Given the description of an element on the screen output the (x, y) to click on. 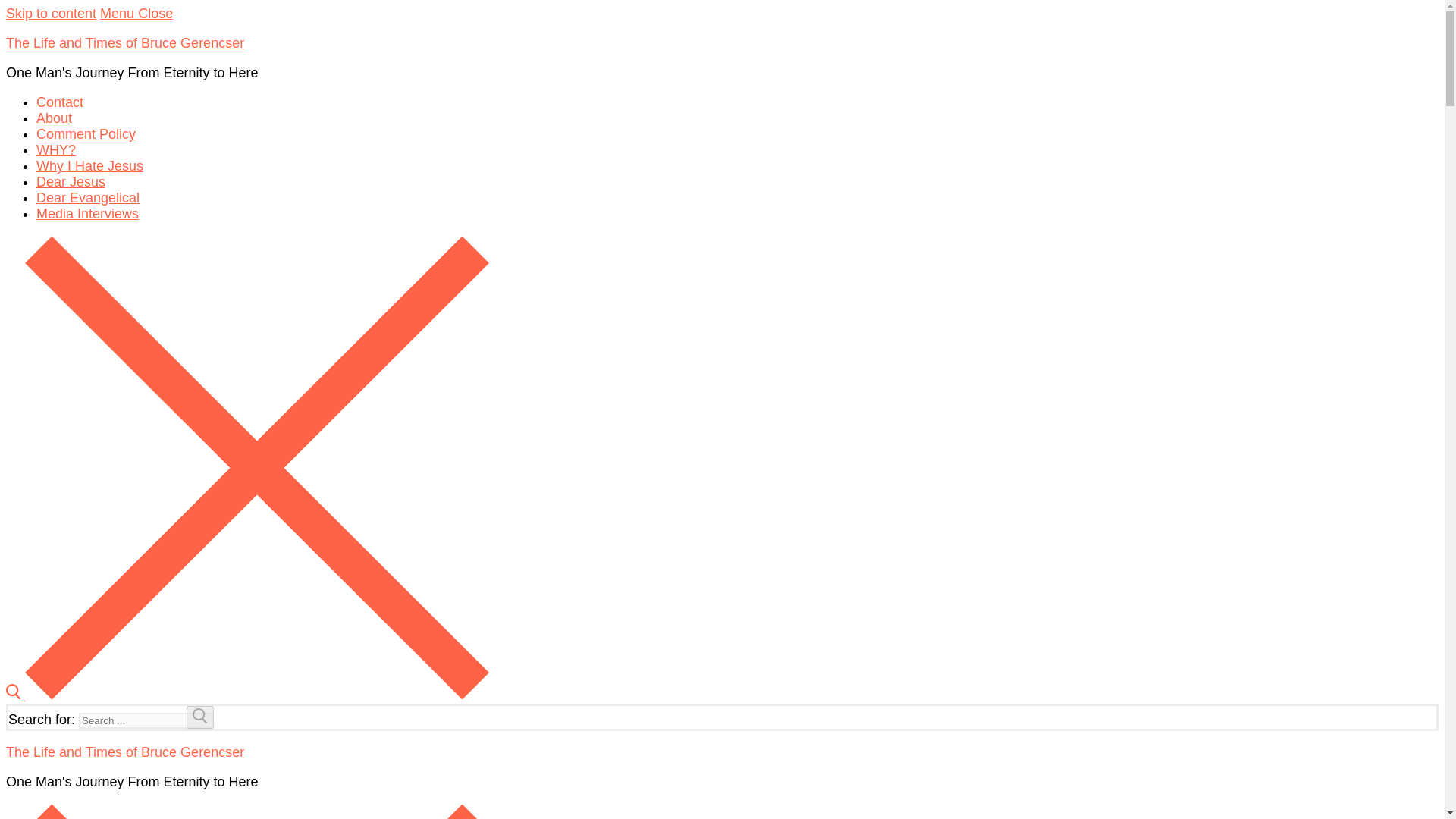
The Life and Times of Bruce Gerencser (124, 752)
Search for: (145, 720)
Comment Policy (85, 133)
WHY? (55, 150)
About (53, 118)
Skip to content (50, 13)
Why I Hate Jesus (89, 165)
Contact (59, 102)
Dear Jesus (70, 181)
Dear Evangelical (87, 197)
Media Interviews (87, 213)
Menu Close (136, 13)
The Life and Times of Bruce Gerencser (124, 43)
